Given the description of an element on the screen output the (x, y) to click on. 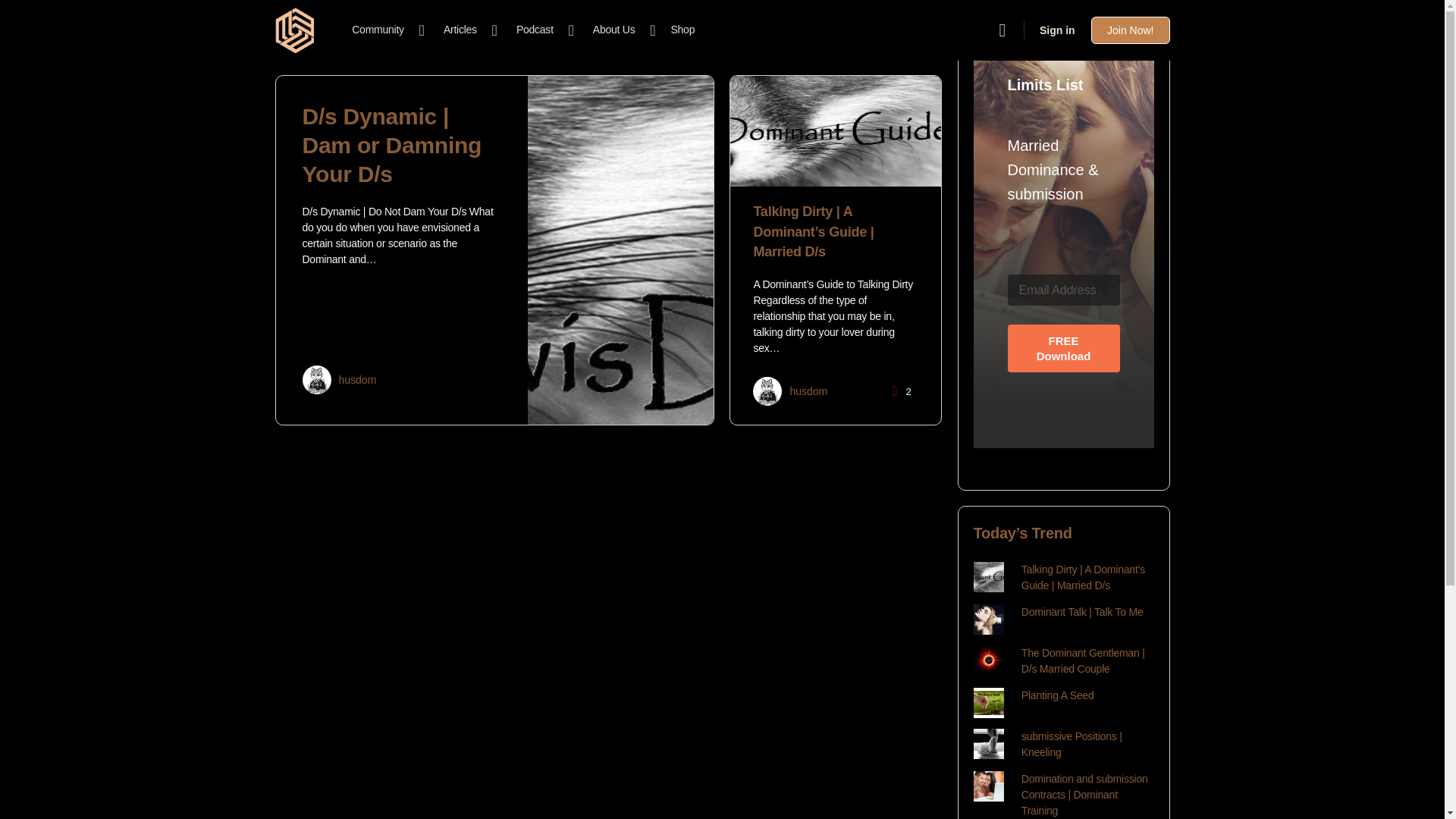
Planting A Seed (1058, 695)
Join Now! (1129, 30)
Articles (466, 30)
Shop (681, 30)
Sign in (1057, 30)
Podcast (540, 30)
Community (384, 30)
About Us (620, 30)
